Given the description of an element on the screen output the (x, y) to click on. 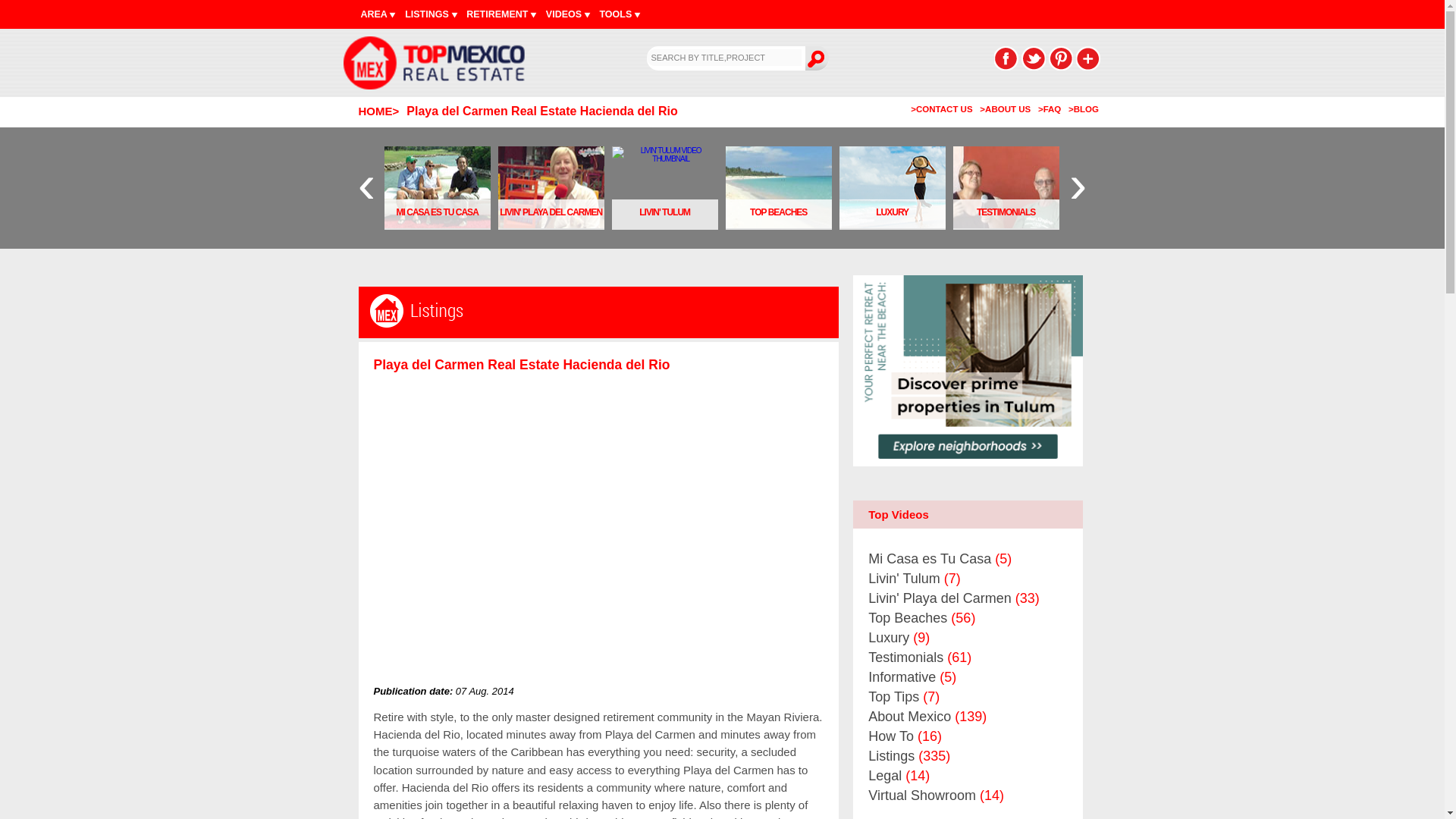
Click to share this page on Twitter (1032, 57)
SEARCH BY TITLE,PROJECT (723, 57)
Click to share this page on Facebook (1004, 57)
Click to Pin this page (1059, 57)
